Given the description of an element on the screen output the (x, y) to click on. 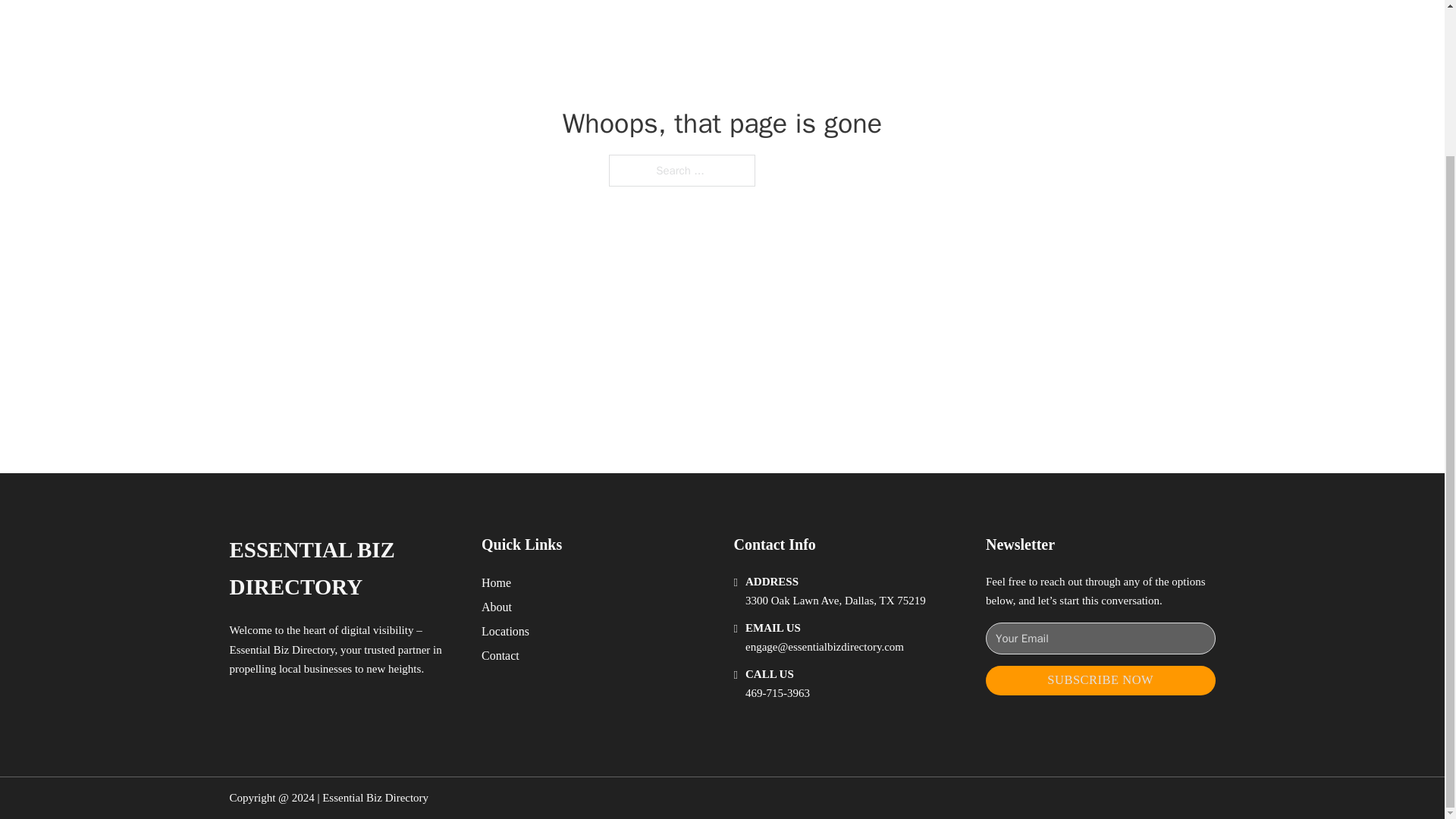
ESSENTIAL BIZ DIRECTORY (343, 568)
469-715-3963 (777, 693)
Contact (500, 655)
About (496, 607)
Locations (505, 630)
Home (496, 582)
SUBSCRIBE NOW (1100, 680)
